Given the description of an element on the screen output the (x, y) to click on. 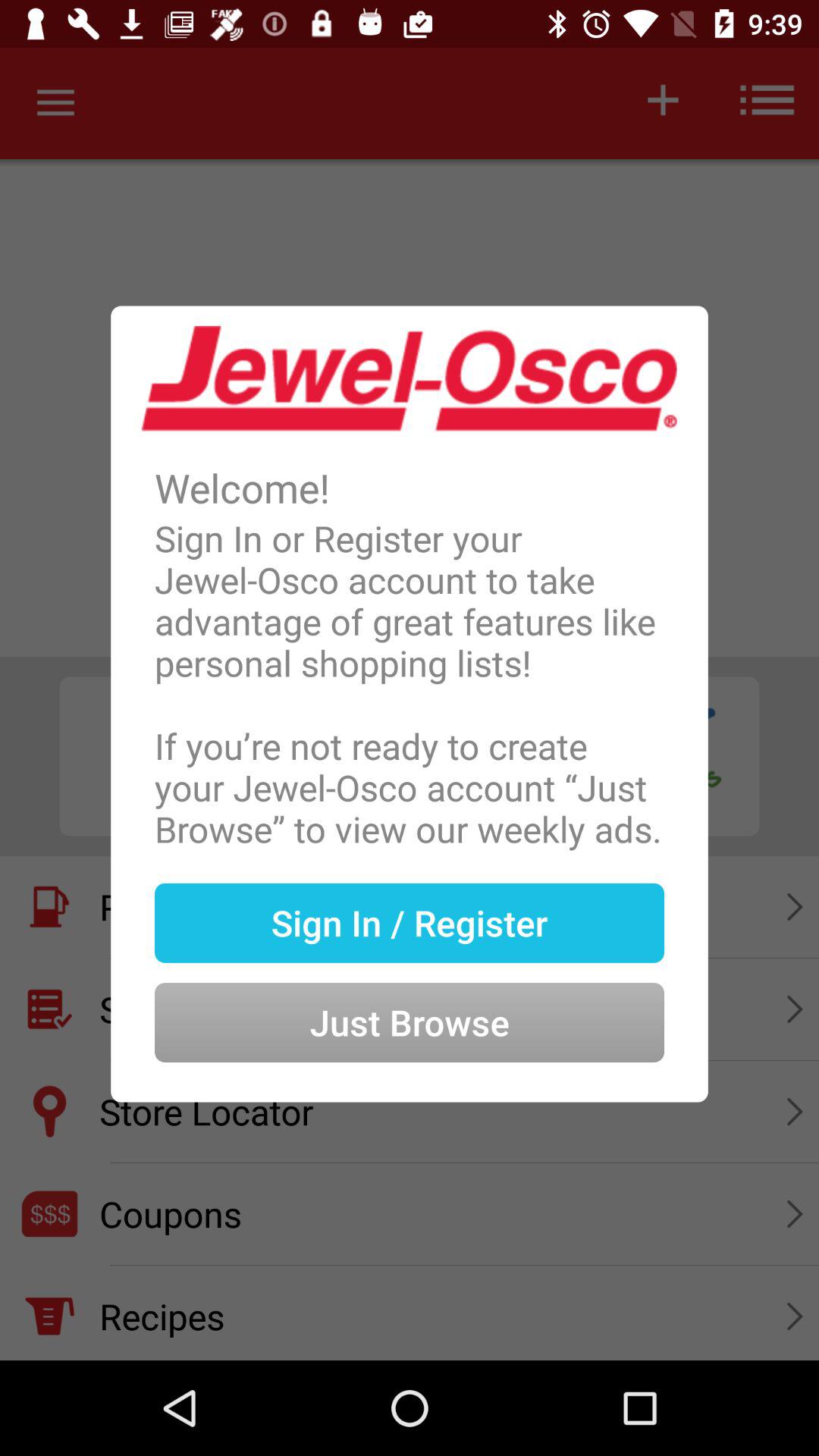
turn off item at the bottom (409, 998)
